Given the description of an element on the screen output the (x, y) to click on. 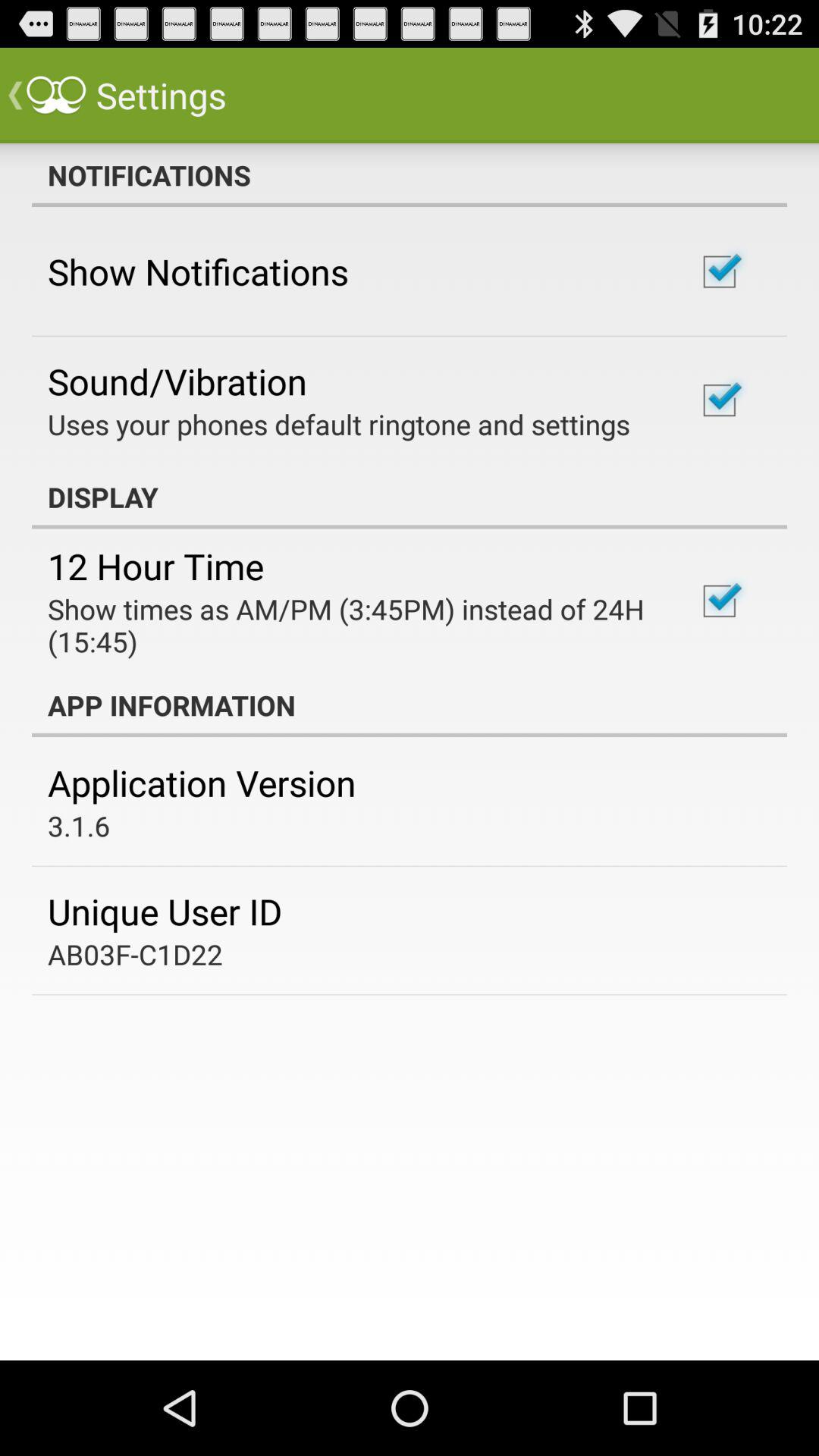
click the icon below unique user id icon (134, 954)
